Given the description of an element on the screen output the (x, y) to click on. 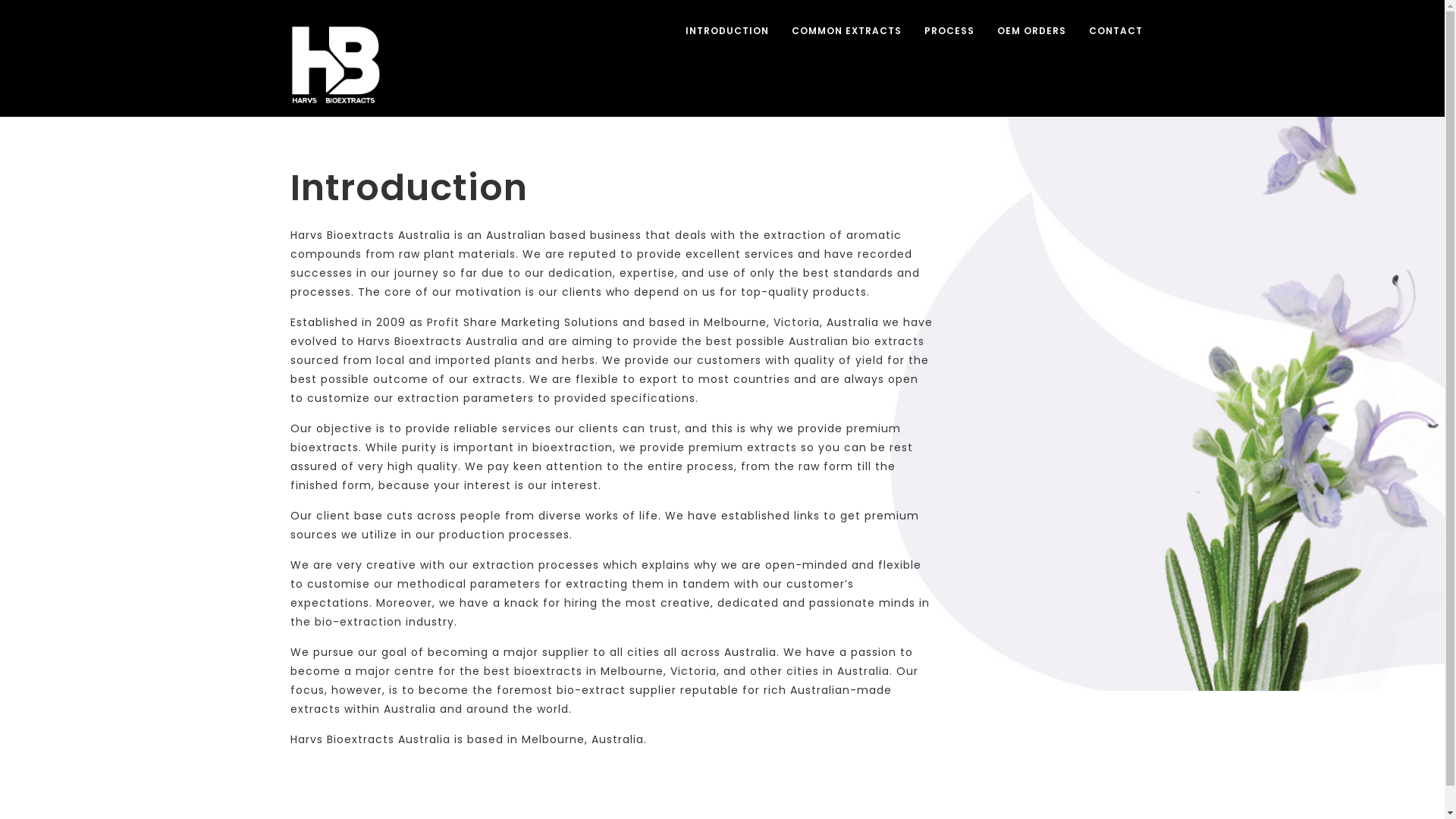
PROCESS Element type: text (949, 30)
INTRODUCTION Element type: text (726, 30)
OEM ORDERS Element type: text (1031, 30)
COMMON EXTRACTS Element type: text (845, 30)
CONTACT Element type: text (1114, 30)
